Given the description of an element on the screen output the (x, y) to click on. 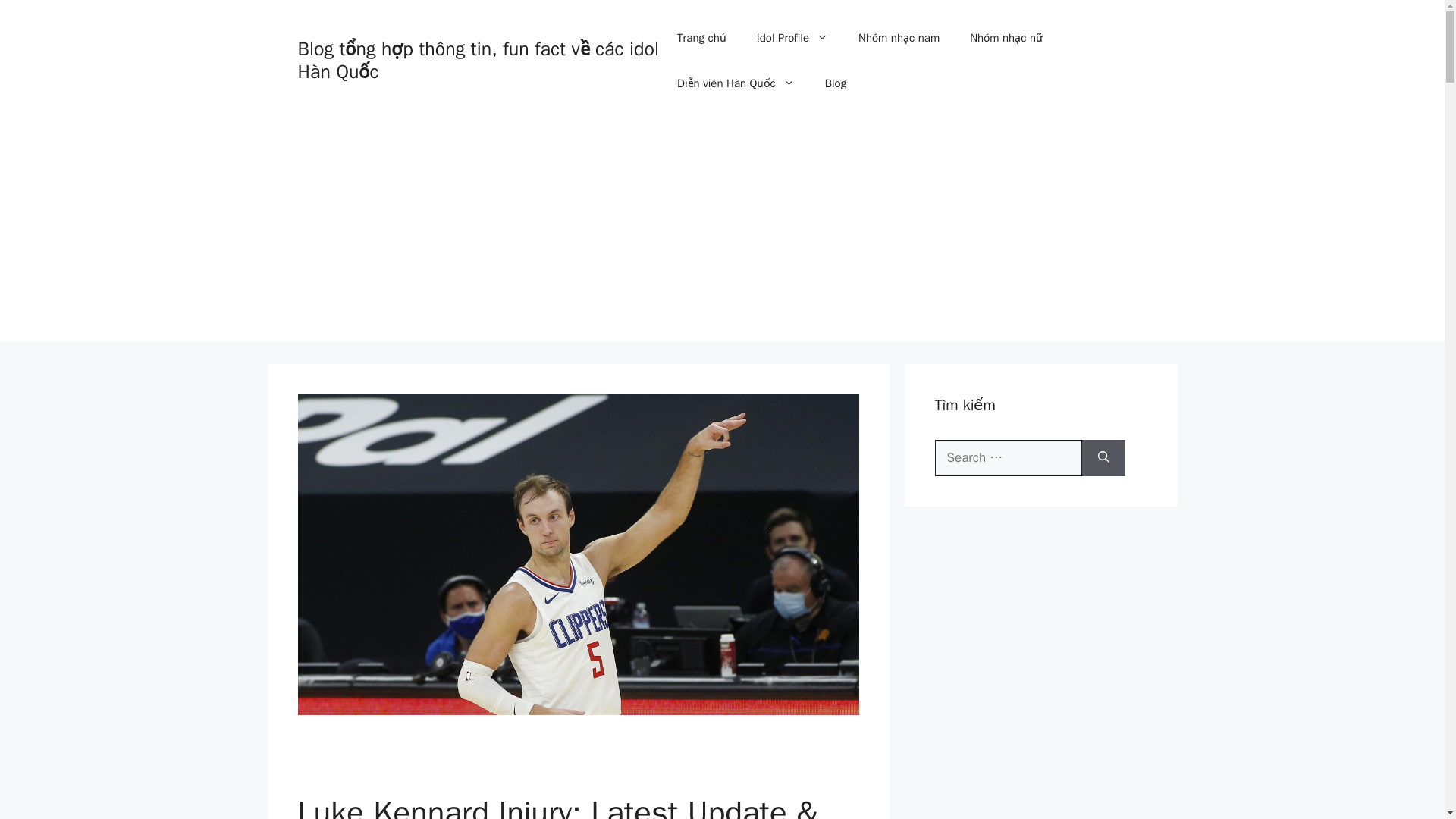
Blog (835, 83)
Idol Profile (792, 37)
Search for: (1007, 457)
